Given the description of an element on the screen output the (x, y) to click on. 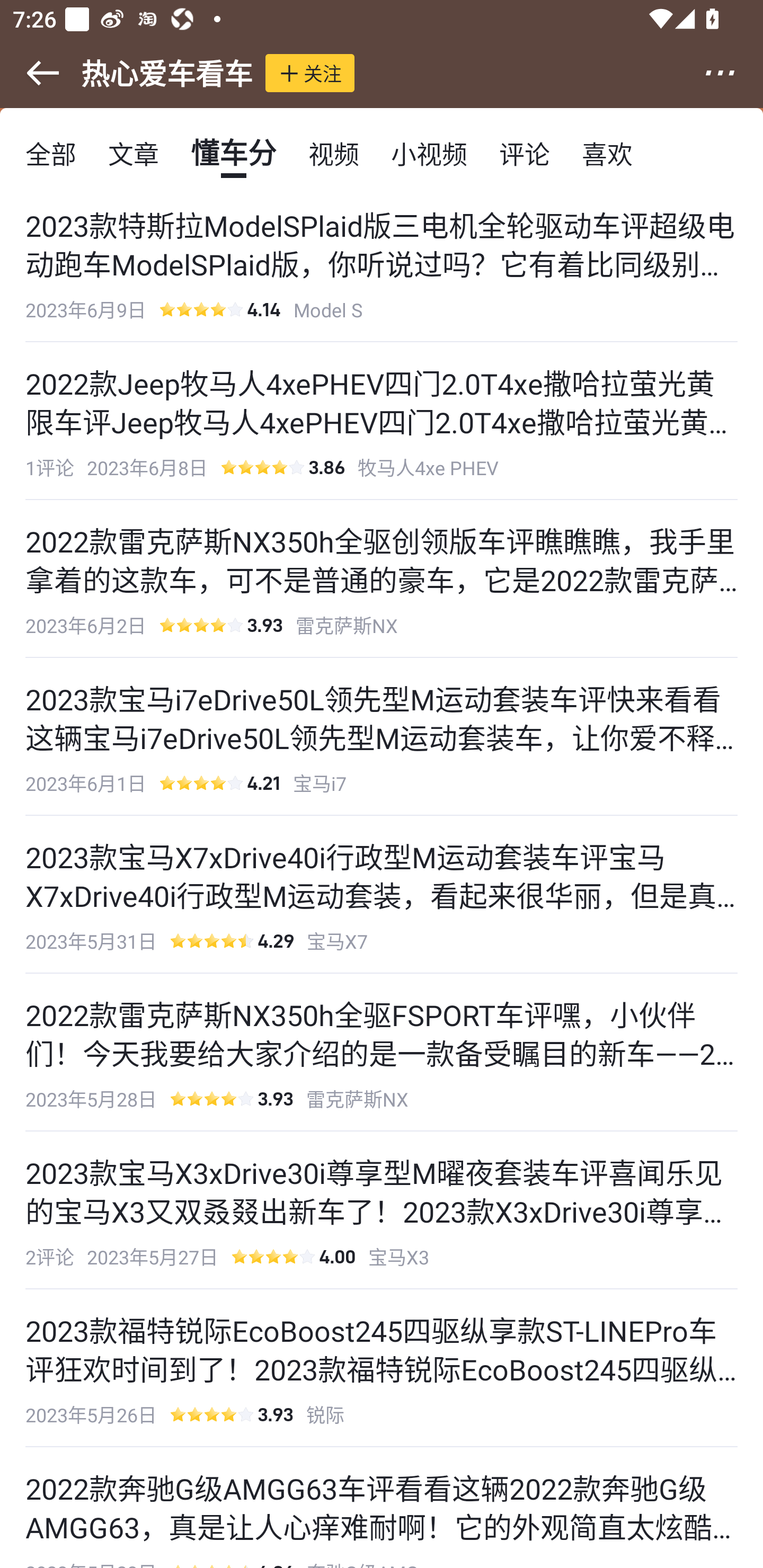
 (30, 72)
 (732, 72)
 关注 (309, 72)
全部 (50, 152)
文章 (133, 152)
懂车分 (233, 152)
视频 (333, 152)
小视频 (428, 152)
评论 (524, 152)
喜欢 (606, 152)
